Given the description of an element on the screen output the (x, y) to click on. 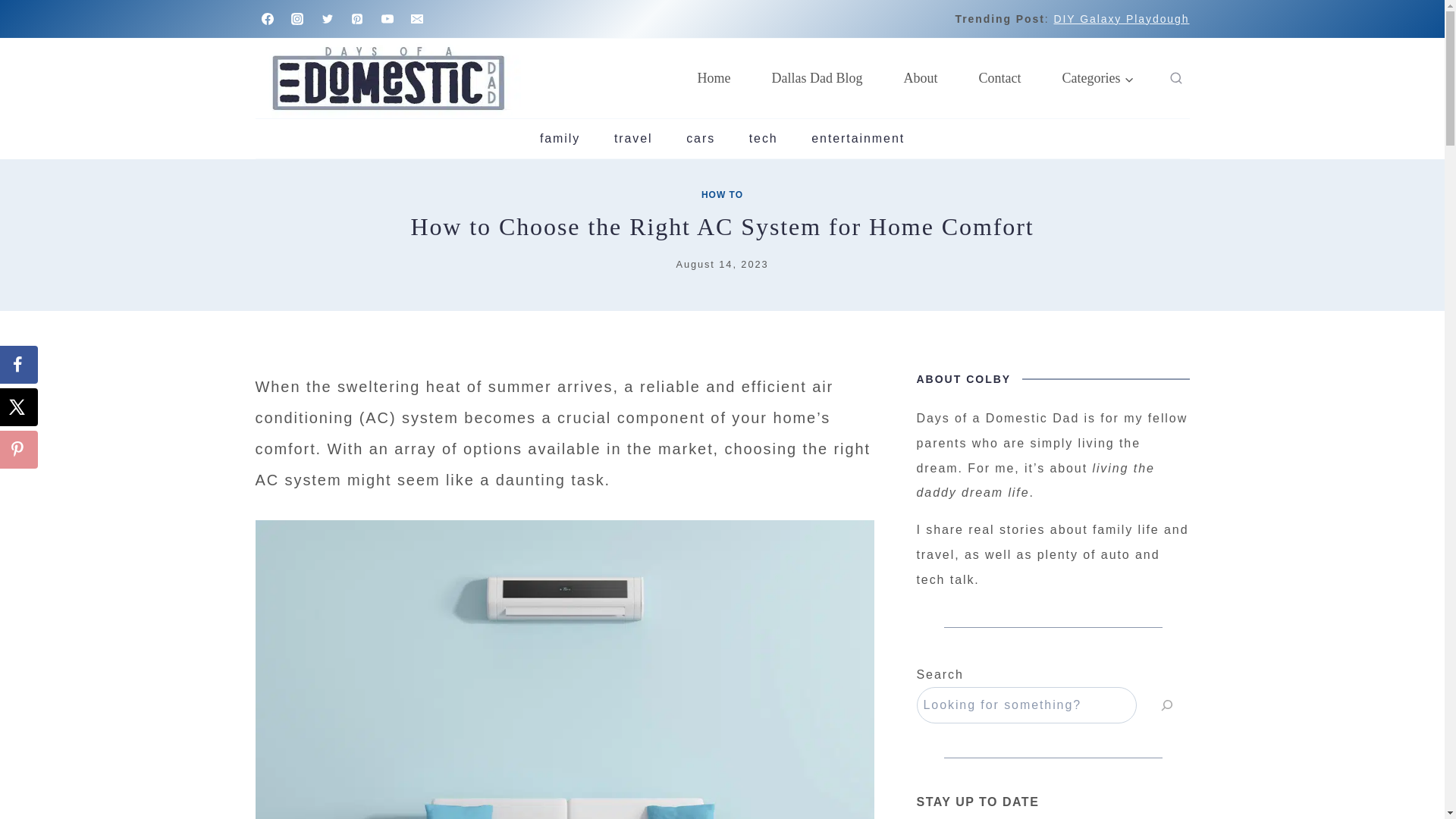
entertainment (857, 138)
HOW TO (721, 194)
About (920, 78)
family (559, 138)
cars (700, 138)
Share on Facebook (18, 364)
tech (763, 138)
travel (632, 138)
Save to Pinterest (18, 449)
Dallas Dad Blog (817, 78)
DIY Galaxy Playdough (1120, 19)
Categories (1098, 78)
Share on X (18, 406)
Home (714, 78)
Contact (1000, 78)
